Given the description of an element on the screen output the (x, y) to click on. 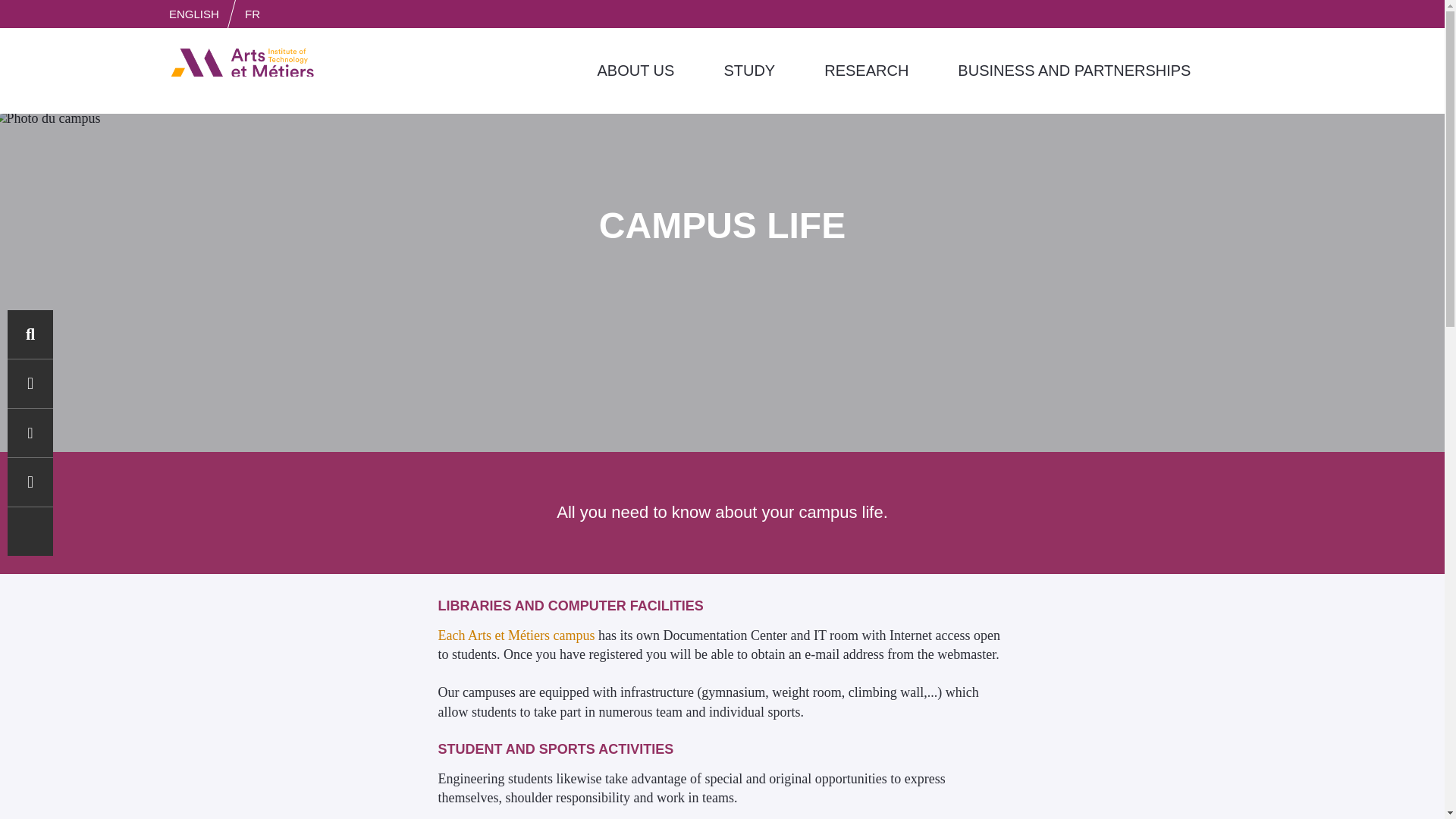
Home (241, 61)
FR (252, 13)
ABOUT US (635, 70)
STUDY (748, 70)
ENGLISH (193, 13)
